Given the description of an element on the screen output the (x, y) to click on. 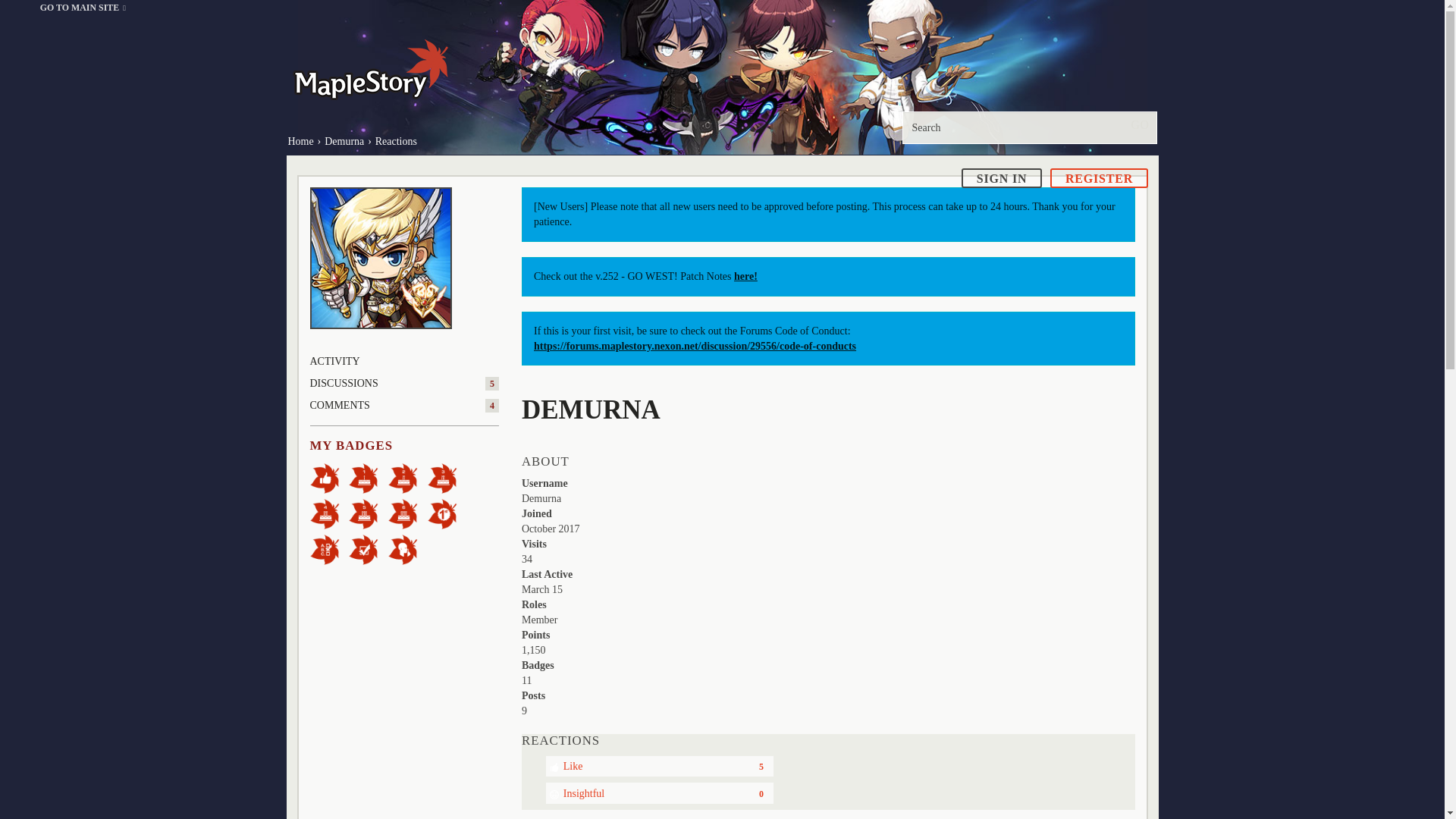
I Voted! (368, 548)
First Year (368, 477)
Fourth Year (328, 513)
Third Year (447, 477)
Pollster (328, 548)
Second Year (408, 477)
October 18, 2017  5:00PM (550, 528)
March 15, 2024  7:40PM (541, 589)
Shhhhh (408, 548)
Half-Decade (368, 513)
First Like! (328, 477)
Go (1139, 124)
Insightful (659, 793)
Like (659, 766)
Sixth Year (408, 513)
